Given the description of an element on the screen output the (x, y) to click on. 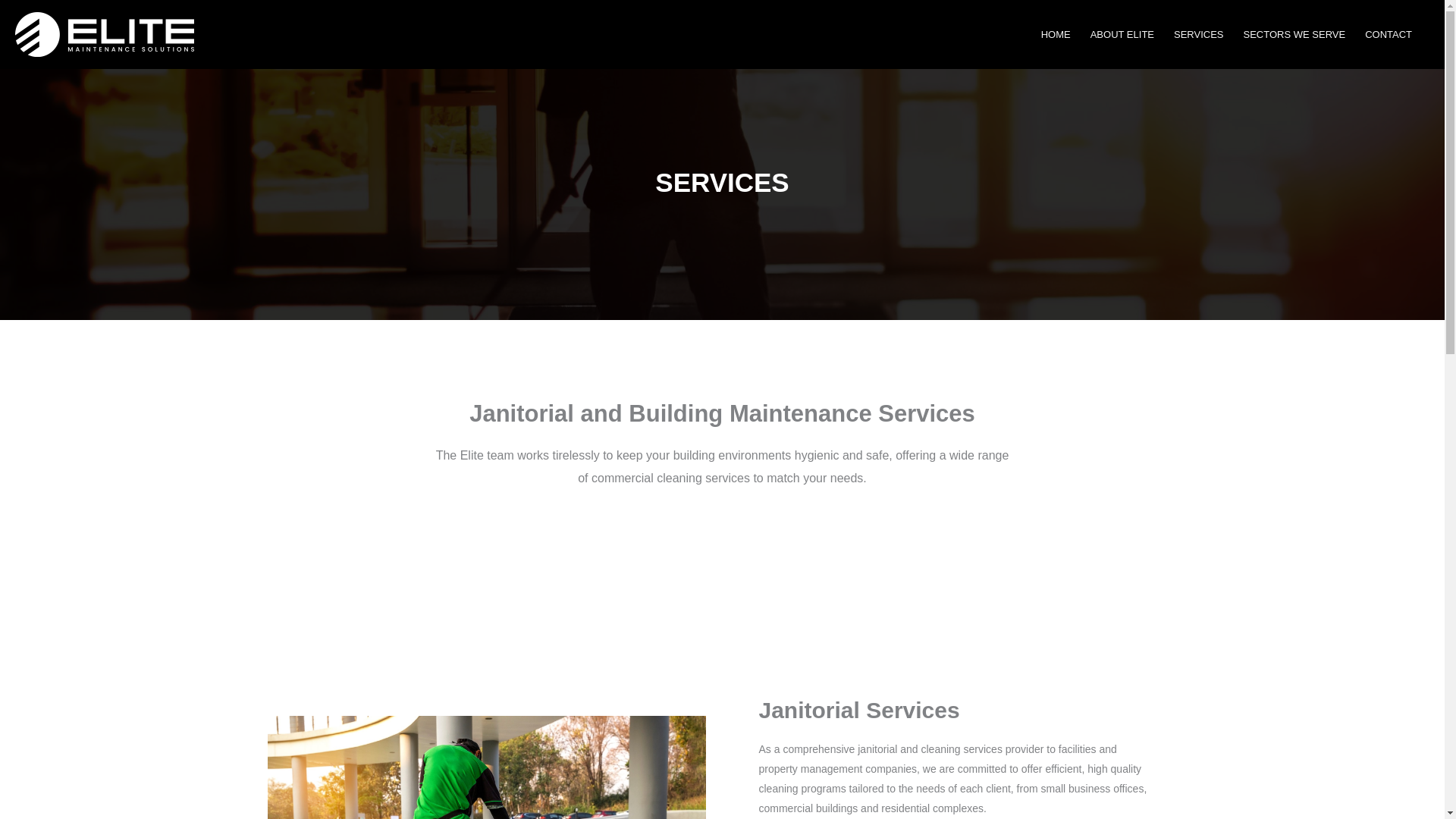
SECTORS WE SERVE (1294, 33)
CONTACT (1388, 33)
SERVICES (1198, 33)
HOME (1055, 33)
ABOUT ELITE (1121, 33)
